Given the description of an element on the screen output the (x, y) to click on. 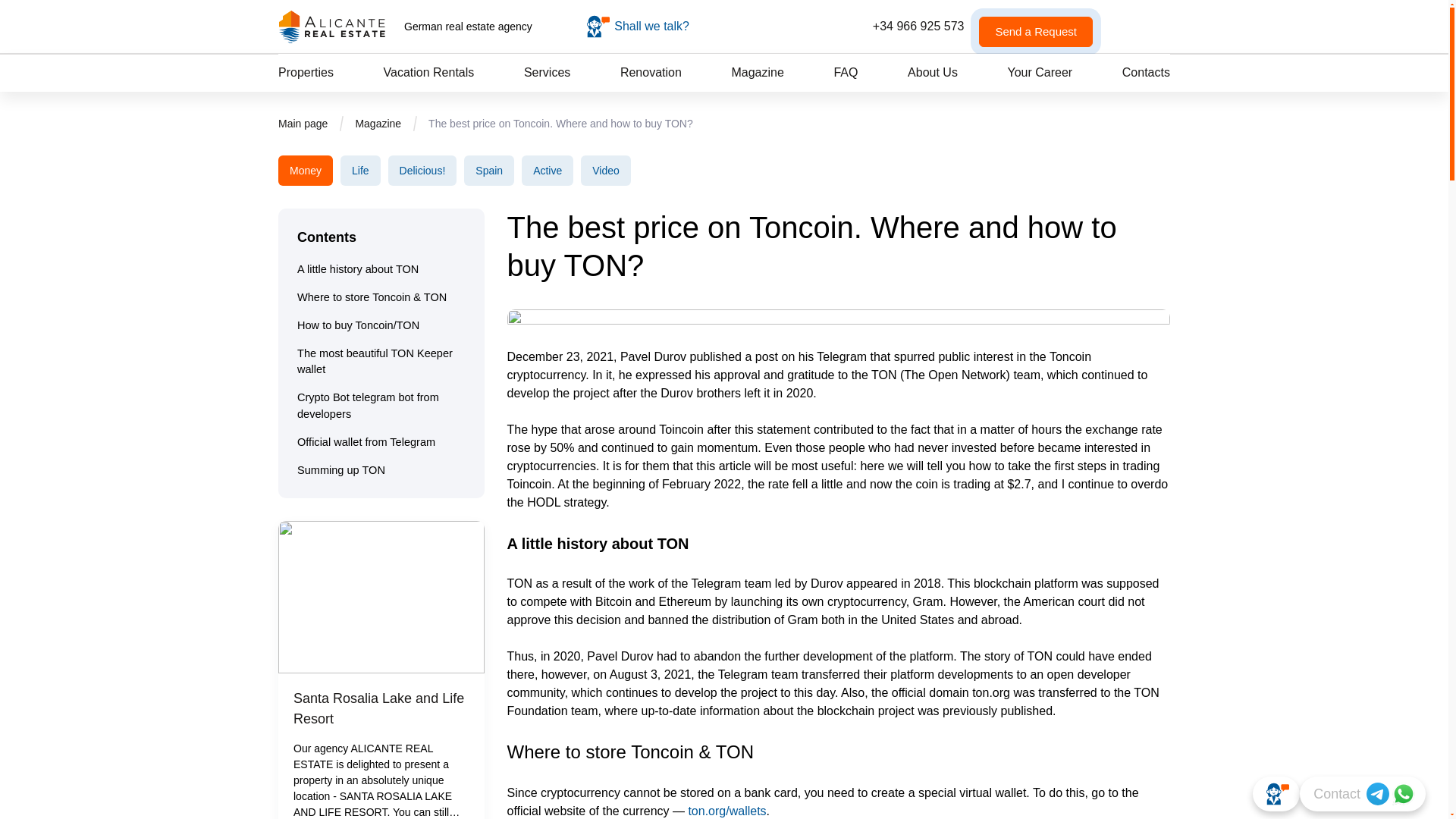
FAQ (844, 72)
About Us (932, 72)
Your Career (1039, 72)
Shall we talk? (637, 26)
Active (547, 170)
Magazine (756, 72)
Delicious! (422, 170)
Contacts (1146, 72)
The most beautiful TON Keeper wallet (381, 362)
Lola (637, 26)
Crypto Bot telegram bot from developers (381, 406)
Official wallet from Telegram (366, 442)
Properties (305, 72)
Spain (488, 170)
Life (360, 170)
